Given the description of an element on the screen output the (x, y) to click on. 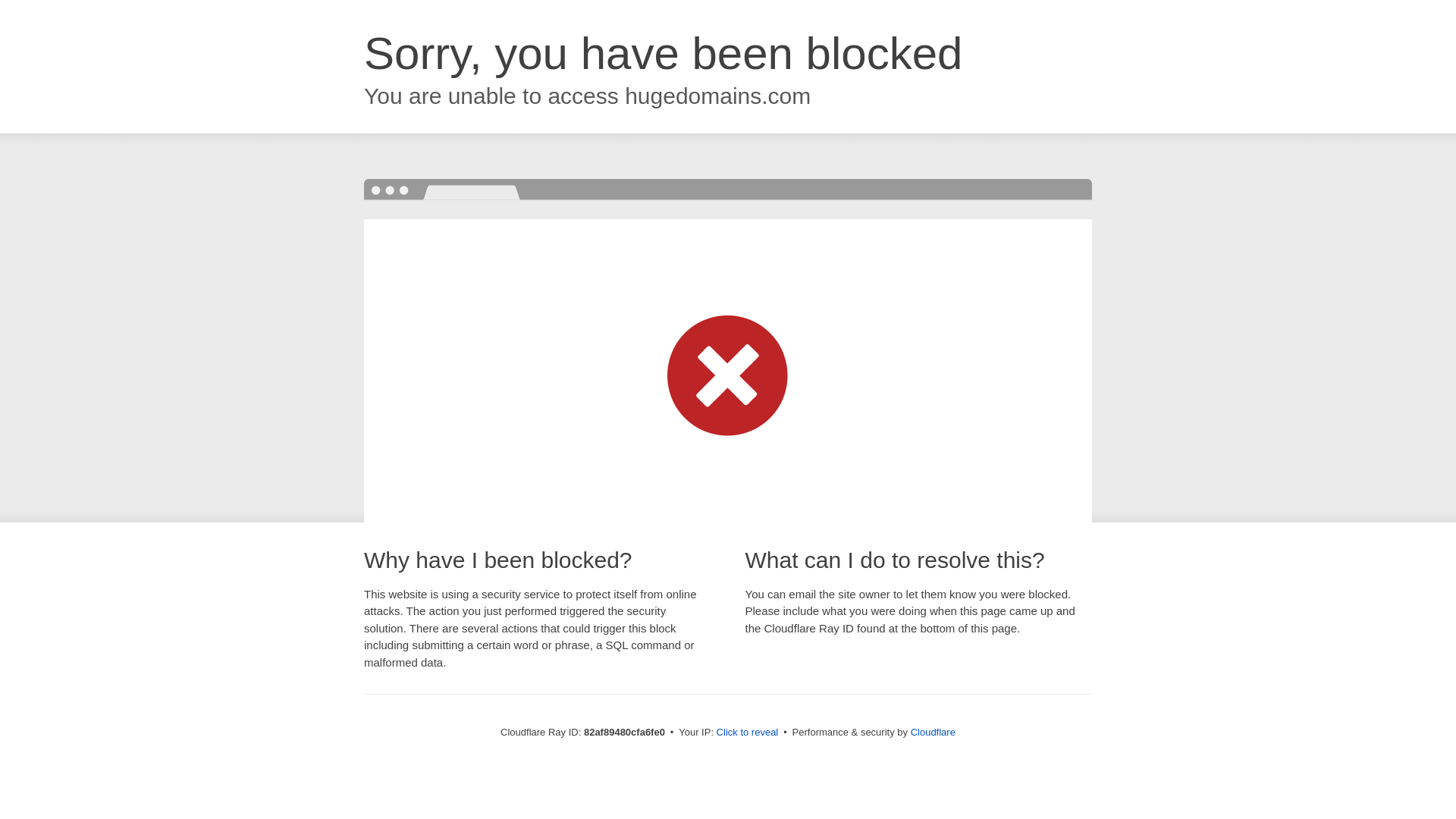
Click to reveal Element type: text (747, 732)
Cloudflare Element type: text (932, 731)
